Given the description of an element on the screen output the (x, y) to click on. 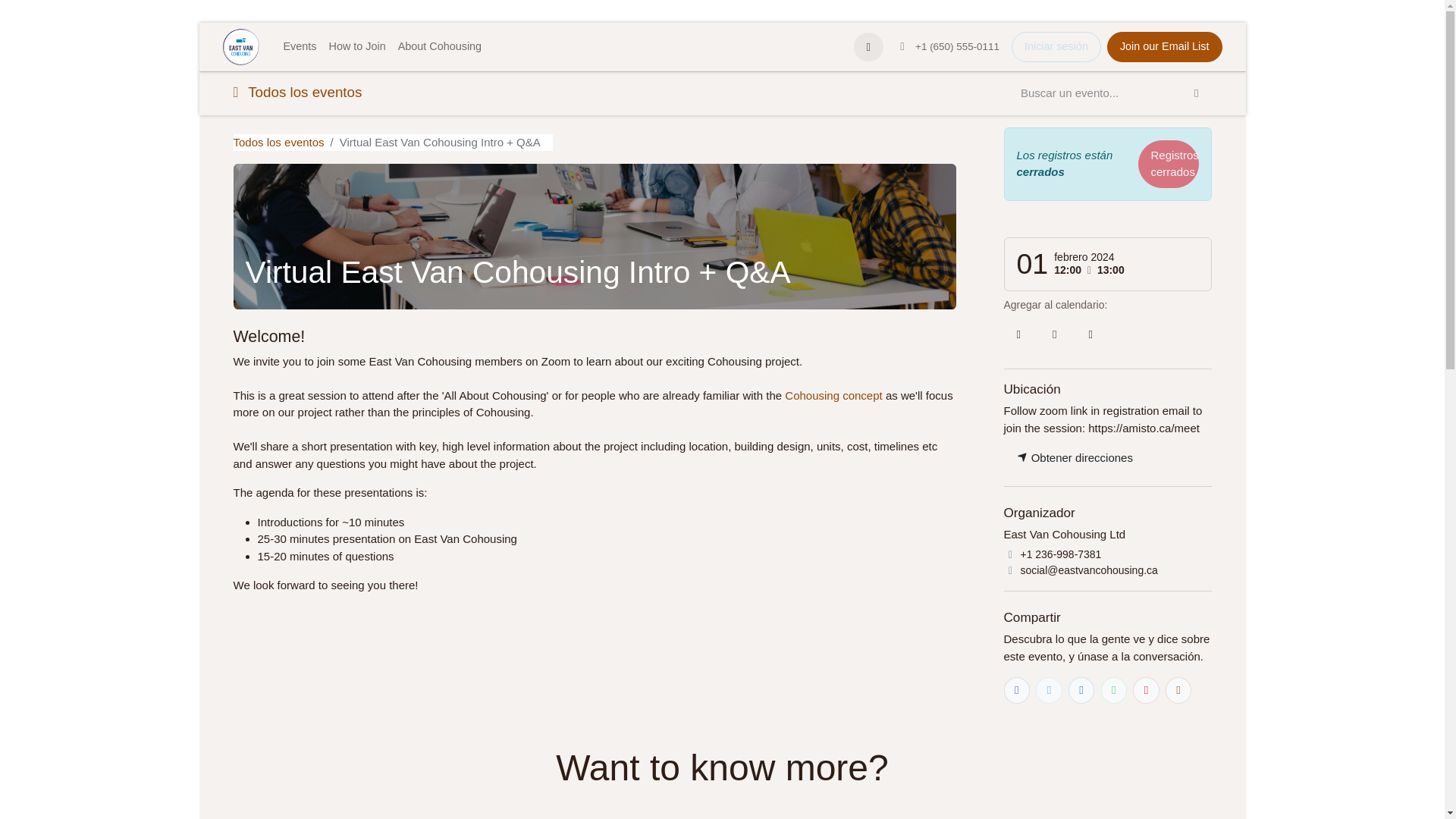
Agregar a iCal (1018, 334)
Events (300, 46)
Agregar a Google (1090, 334)
Agregar a Outlook (1053, 334)
Regresar a todos los eventos  (278, 141)
Cohousing concept (833, 395)
Todos los eventos (297, 92)
Todos los eventos (278, 141)
How to Join (357, 46)
East Van Cohousing (240, 46)
Registros cerrados (1168, 163)
Obtener direcciones (1074, 458)
About Cohousing (439, 46)
Obtener direcciones (1074, 458)
Join our Email List (1164, 46)
